Given the description of an element on the screen output the (x, y) to click on. 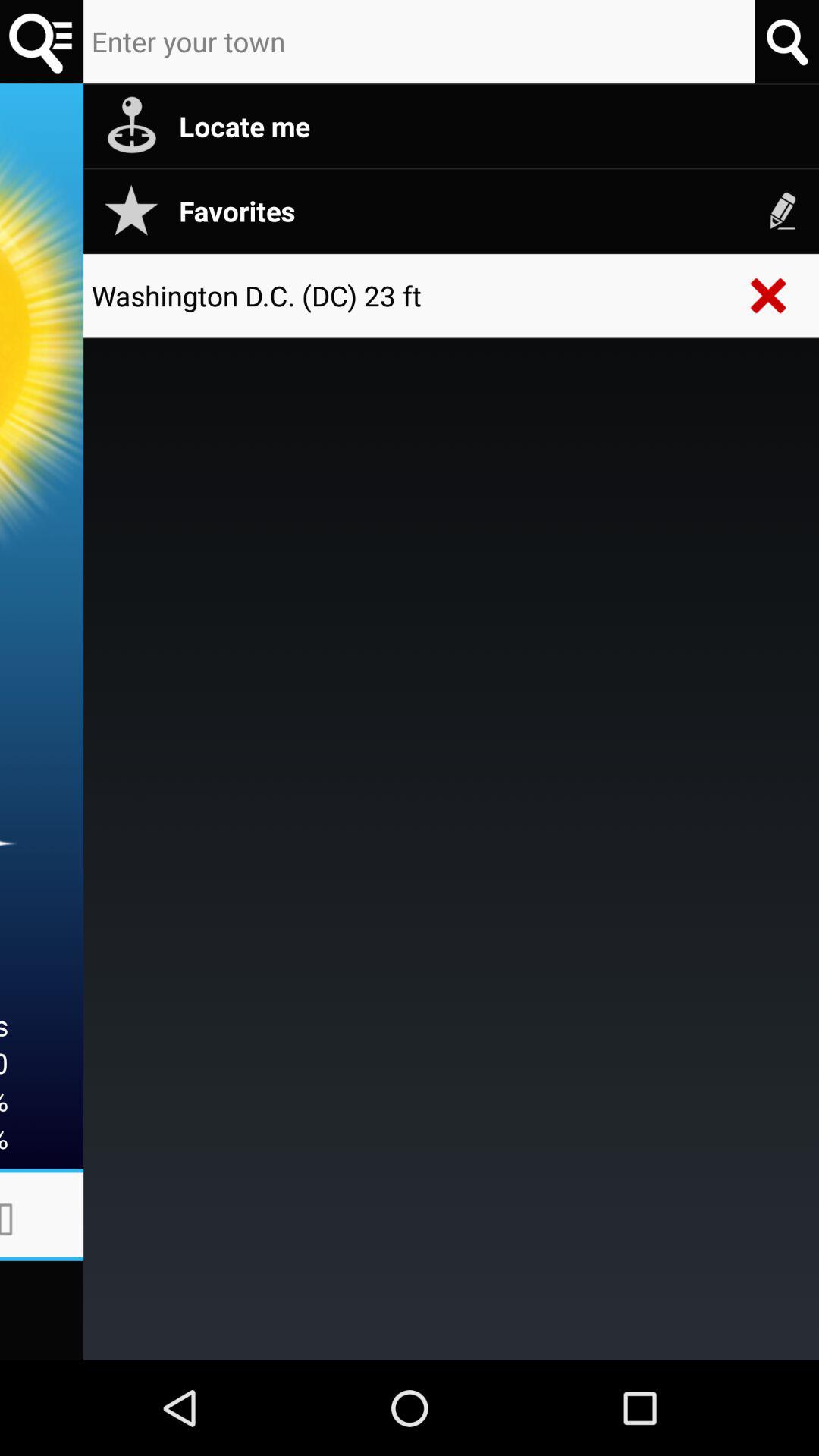
search place (787, 41)
